Given the description of an element on the screen output the (x, y) to click on. 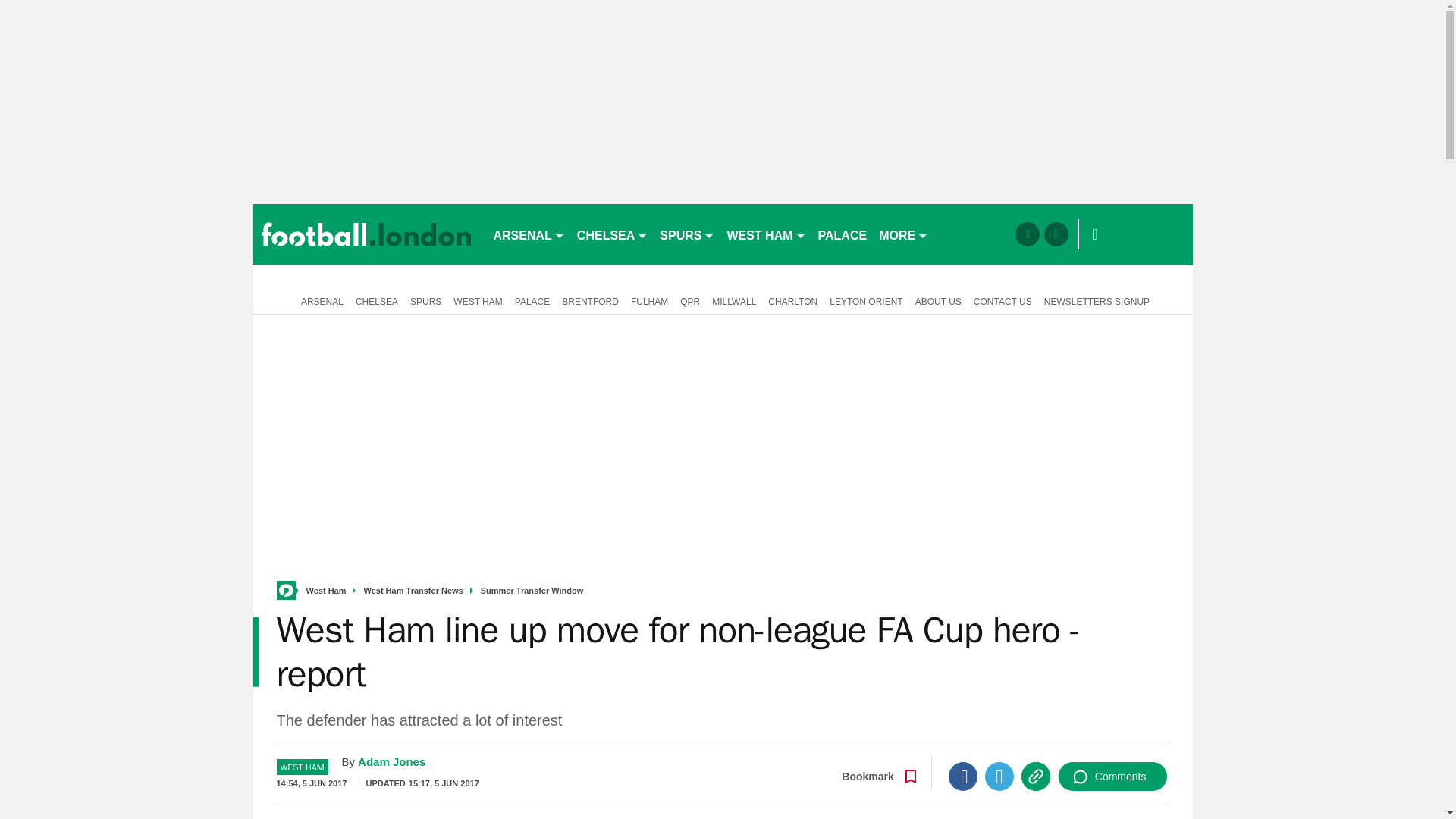
CHELSEA (611, 233)
ARSENAL (528, 233)
MORE (903, 233)
footballlondon (365, 233)
Facebook (962, 776)
WEST HAM (765, 233)
Comments (1112, 776)
SPURS (686, 233)
PALACE (842, 233)
Twitter (999, 776)
